Given the description of an element on the screen output the (x, y) to click on. 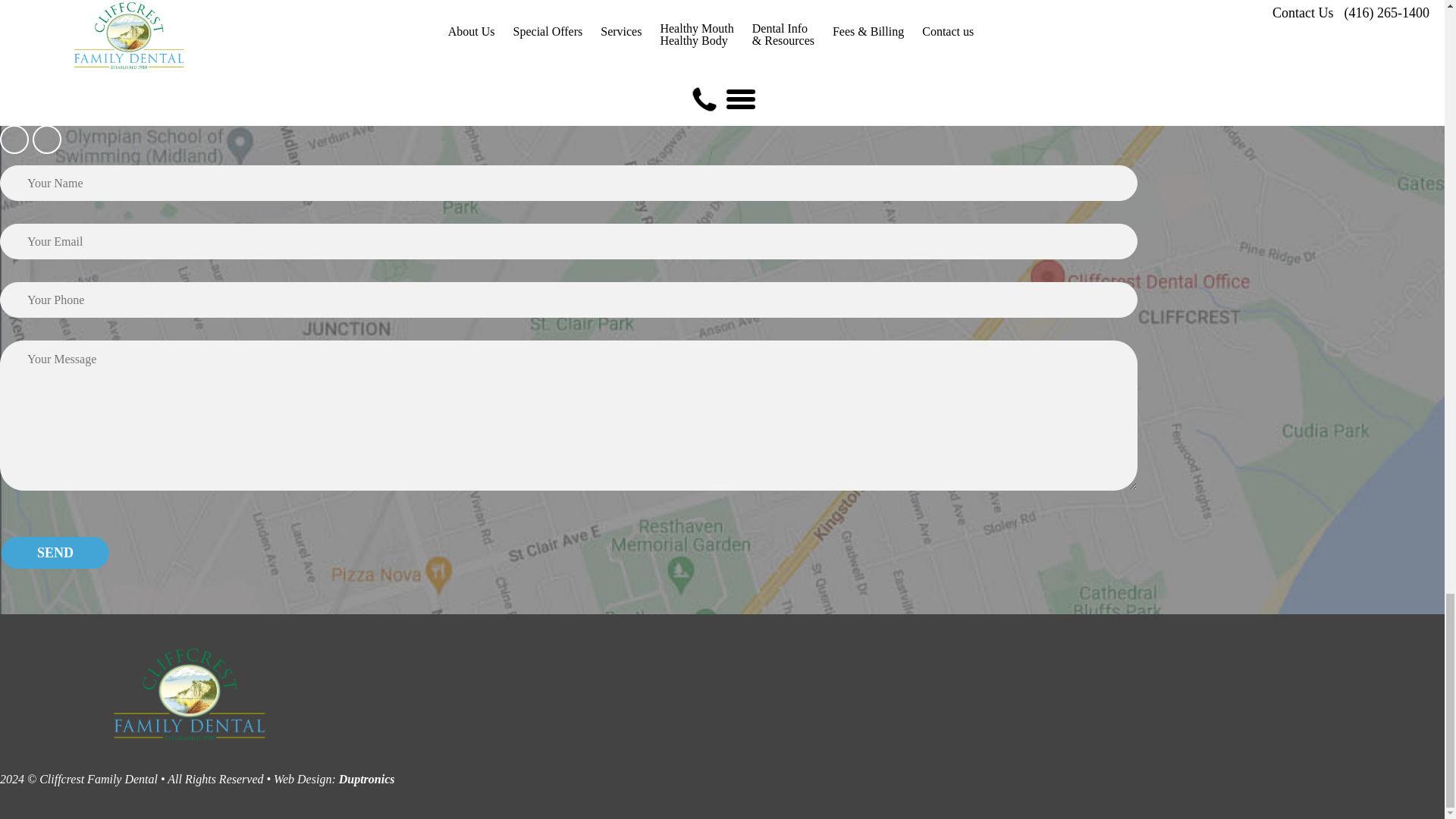
Cliffcrest Family Dental (189, 745)
Send (55, 552)
Instagram (14, 139)
Facebook (46, 139)
